Given the description of an element on the screen output the (x, y) to click on. 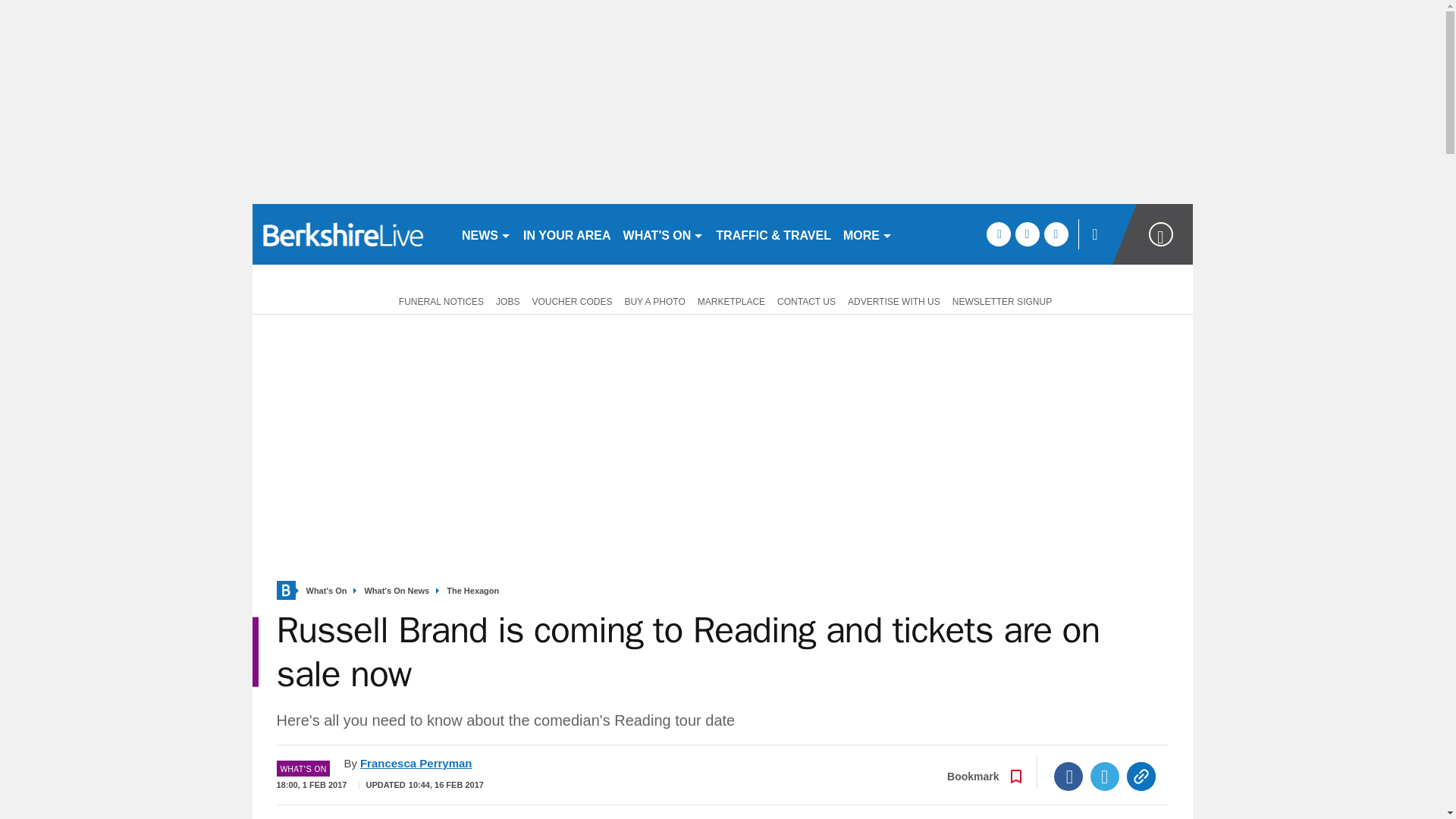
Facebook (1068, 776)
Twitter (1104, 776)
WHAT'S ON (663, 233)
MORE (867, 233)
twitter (1026, 233)
getreading (349, 233)
NEWS (485, 233)
facebook (997, 233)
instagram (1055, 233)
IN YOUR AREA (566, 233)
